Given the description of an element on the screen output the (x, y) to click on. 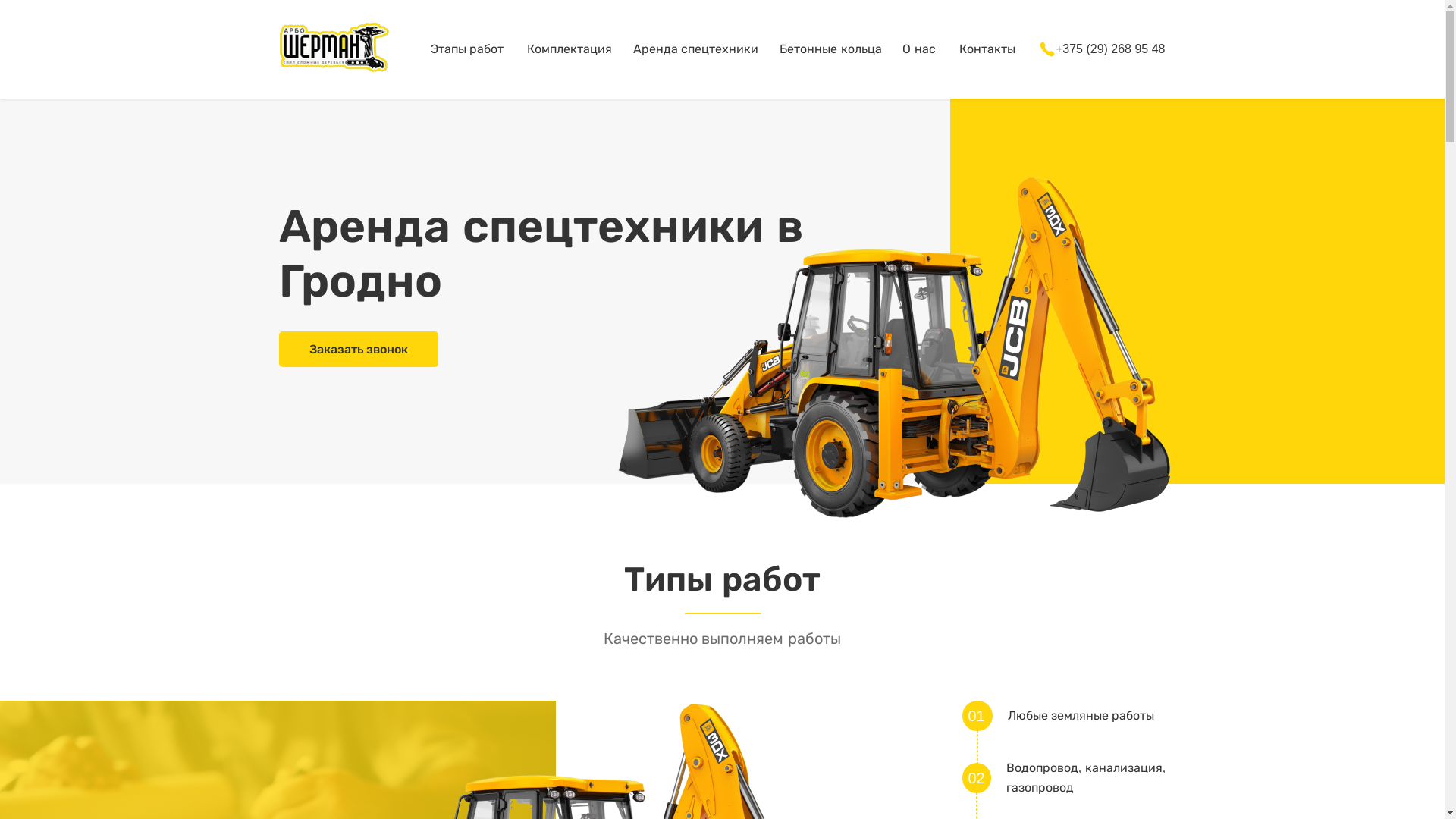
+375 (29) 268 95 48 Element type: text (1101, 48)
